Given the description of an element on the screen output the (x, y) to click on. 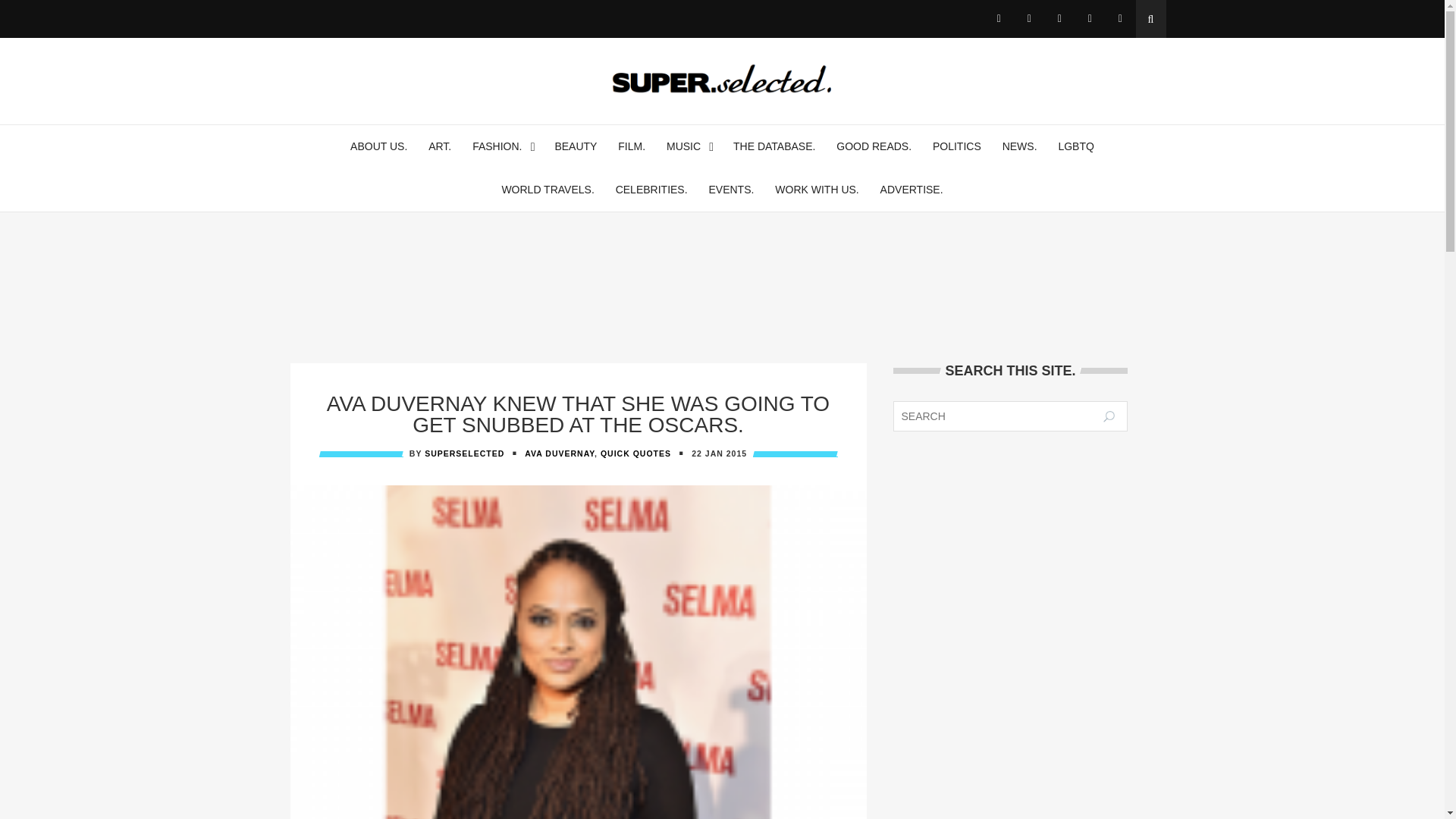
THE DATABASE. (774, 146)
CELEBRITIES. (651, 189)
ART. (439, 146)
LGBTQ (1075, 146)
ADVERTISE. (911, 189)
FASHION. (496, 146)
FILM. (631, 146)
WORK WITH US. (816, 189)
EVENTS. (730, 189)
POLITICS (957, 146)
BEAUTY (575, 146)
MUSIC (683, 146)
WORLD TRAVELS. (547, 189)
